Given the description of an element on the screen output the (x, y) to click on. 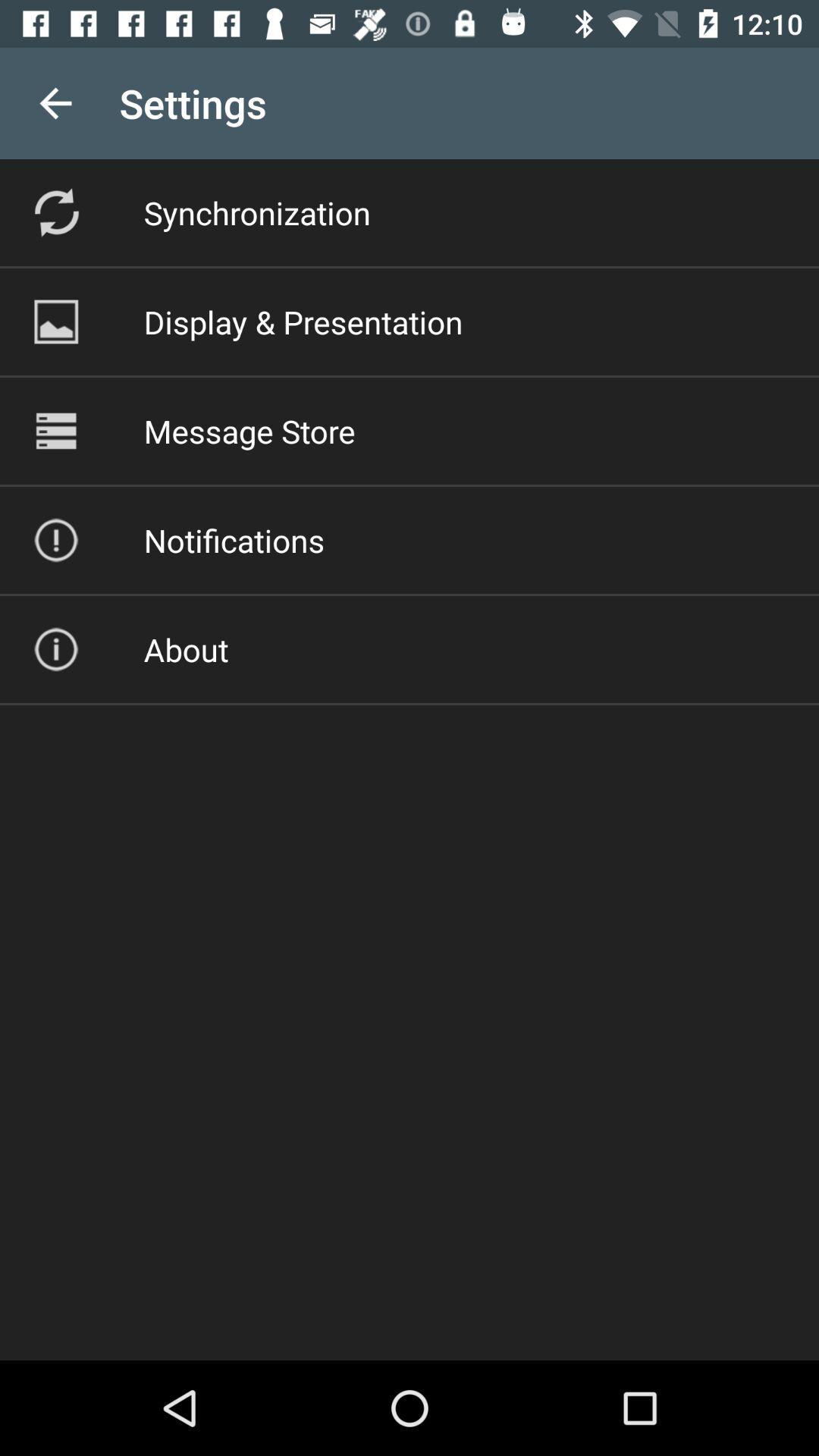
click the icon below synchronization (302, 321)
